Given the description of an element on the screen output the (x, y) to click on. 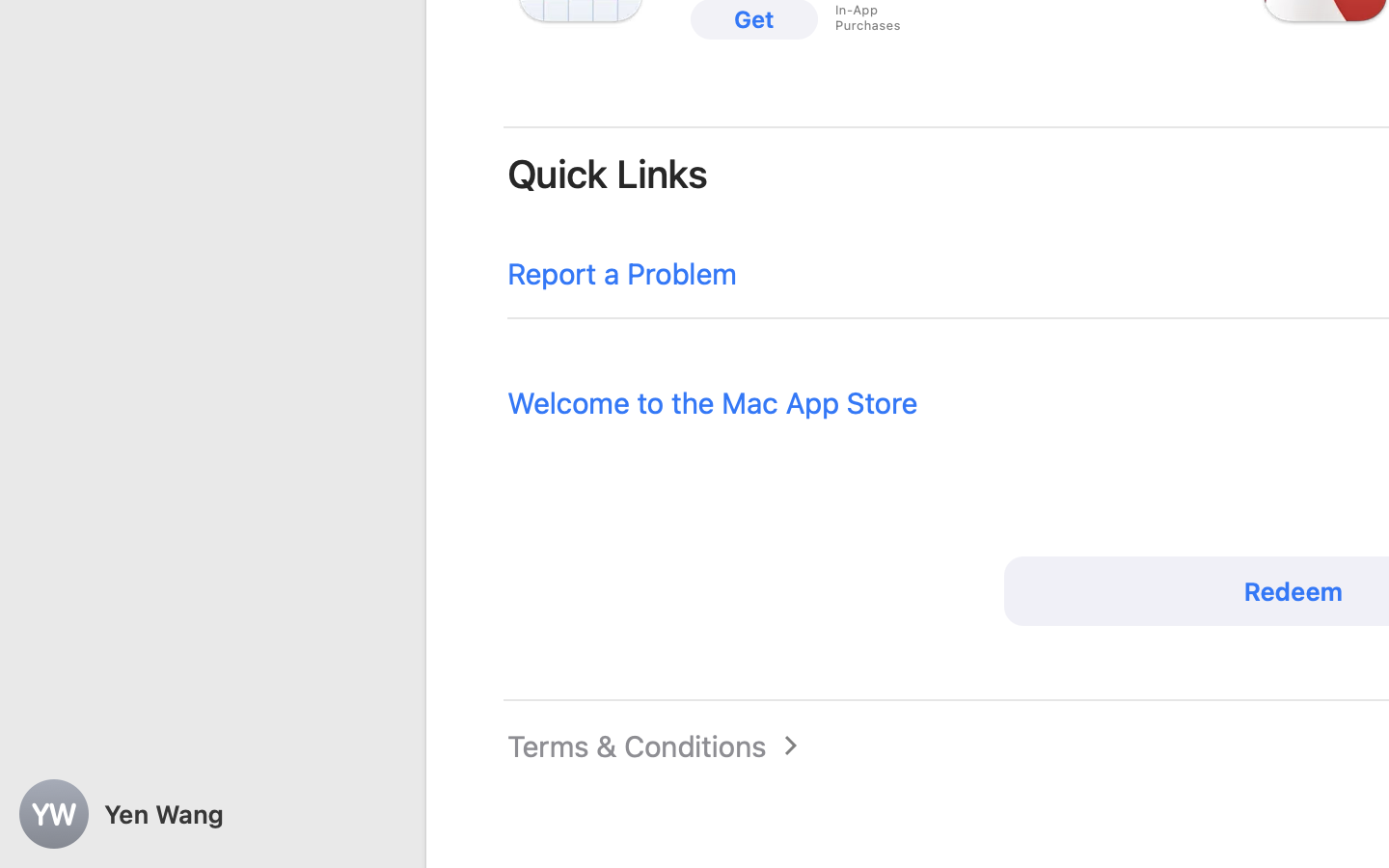
Yen Wang Element type: AXButton (212, 813)
